Given the description of an element on the screen output the (x, y) to click on. 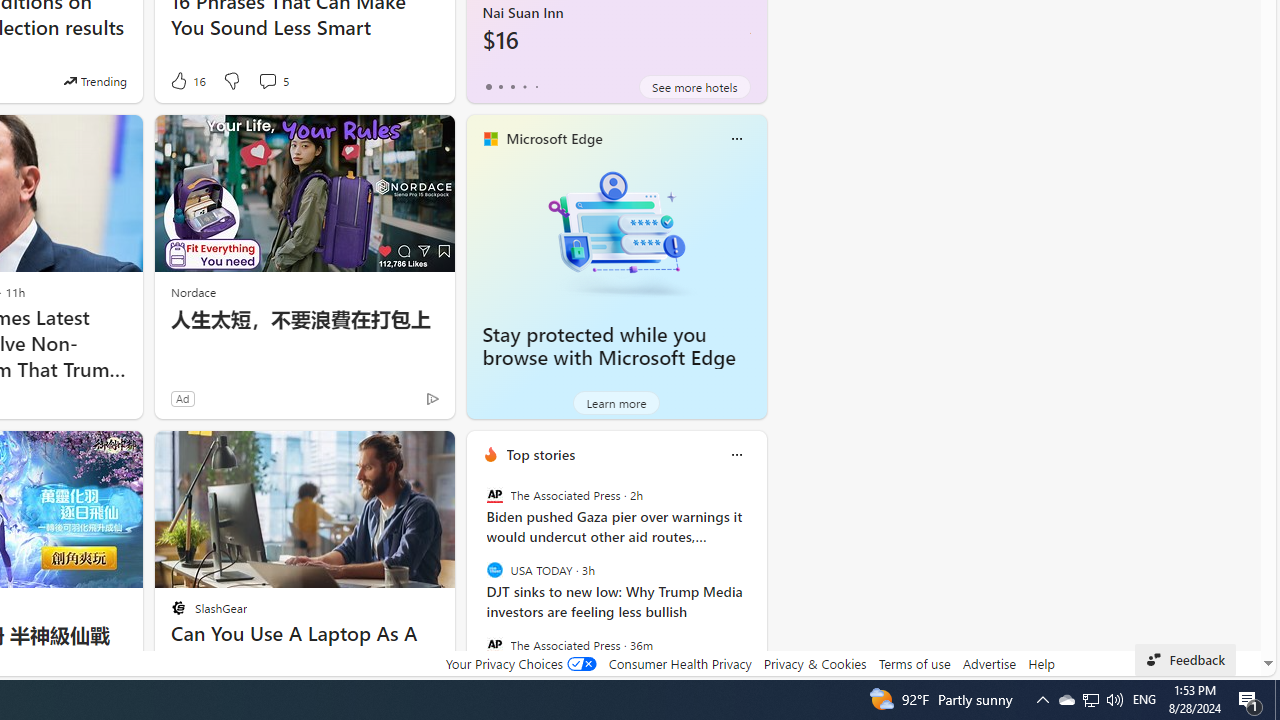
Microsoft Edge (553, 139)
tab-1 (500, 86)
16 Like (186, 80)
See more hotels (694, 86)
previous (476, 583)
Hide this story (393, 454)
